Given the description of an element on the screen output the (x, y) to click on. 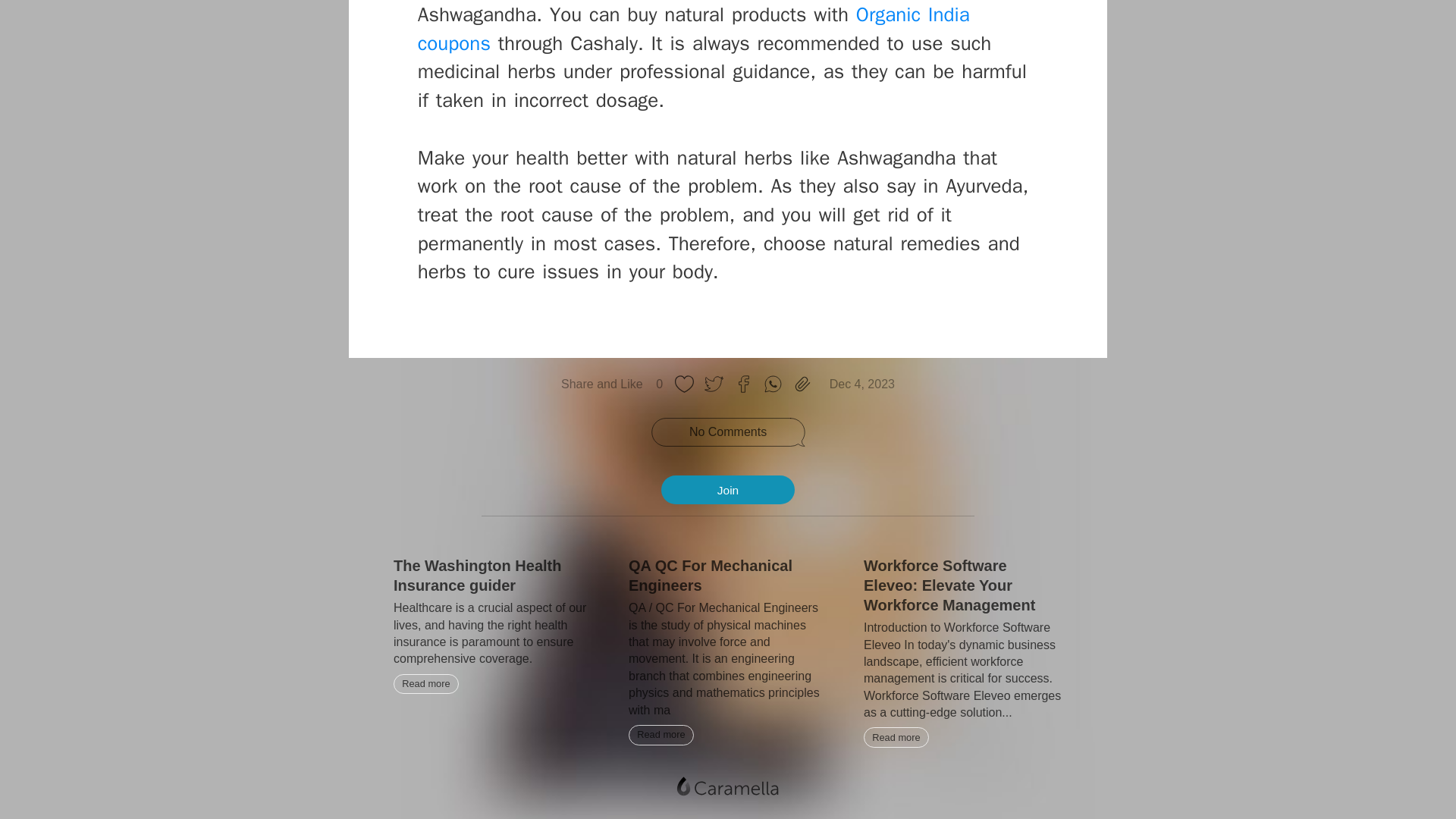
Join (727, 489)
No Comments (728, 432)
Share on Facebook (743, 383)
Like this post (683, 383)
Show navigation menu (727, 787)
Organic India coupons (693, 29)
Share on Twitter (713, 383)
Share on Whatsapp (772, 383)
